Given the description of an element on the screen output the (x, y) to click on. 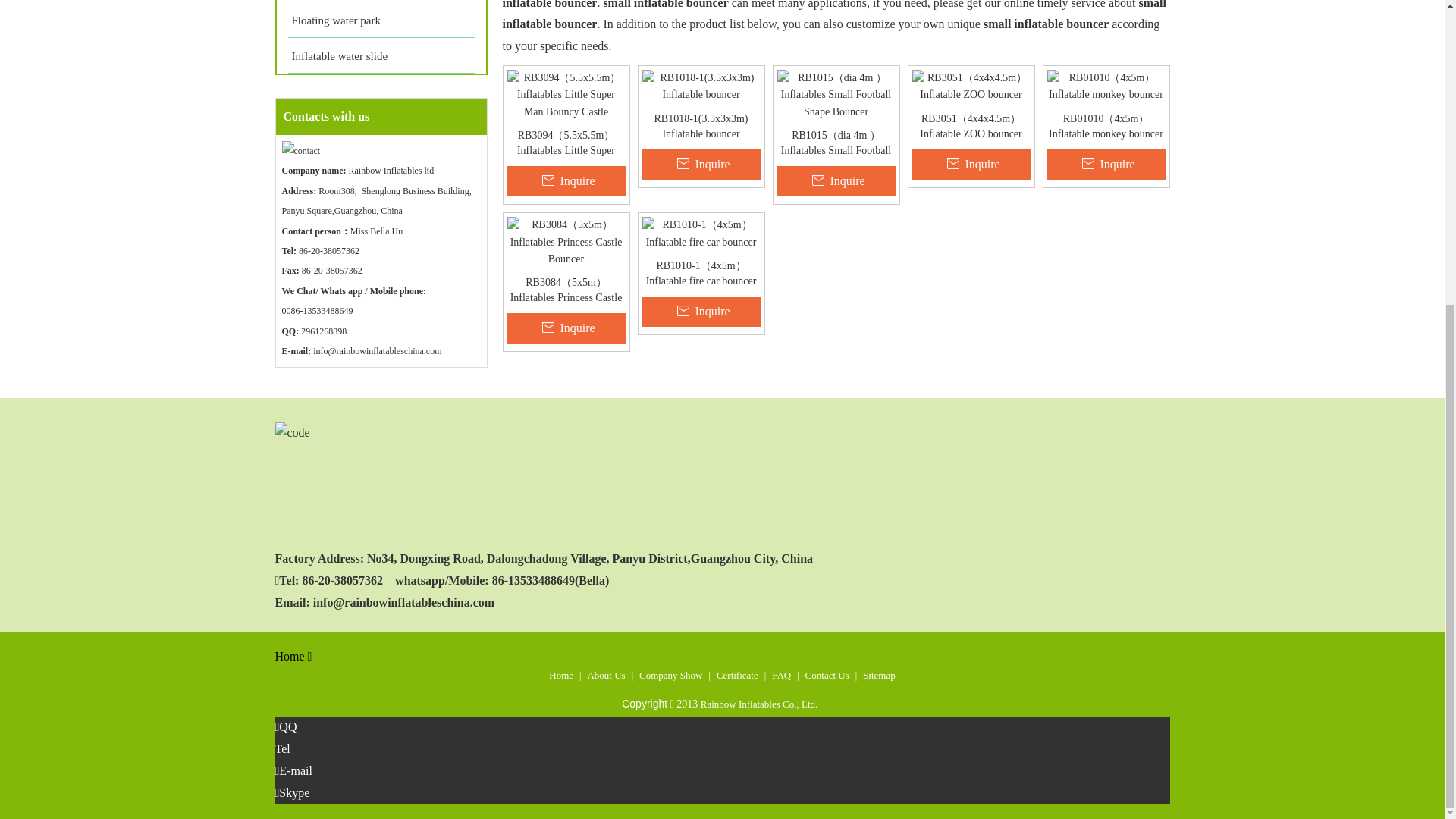
Floating water park (380, 19)
Inquire (835, 181)
contact (301, 150)
Ground Water Park (380, 1)
Inquire (701, 164)
Inquire (1105, 164)
Ground Water Park (380, 1)
Floating water park (380, 19)
Inflatable water slide (380, 55)
Inquire (970, 164)
Inflatable water slide (380, 55)
Inquire (565, 181)
